Given the description of an element on the screen output the (x, y) to click on. 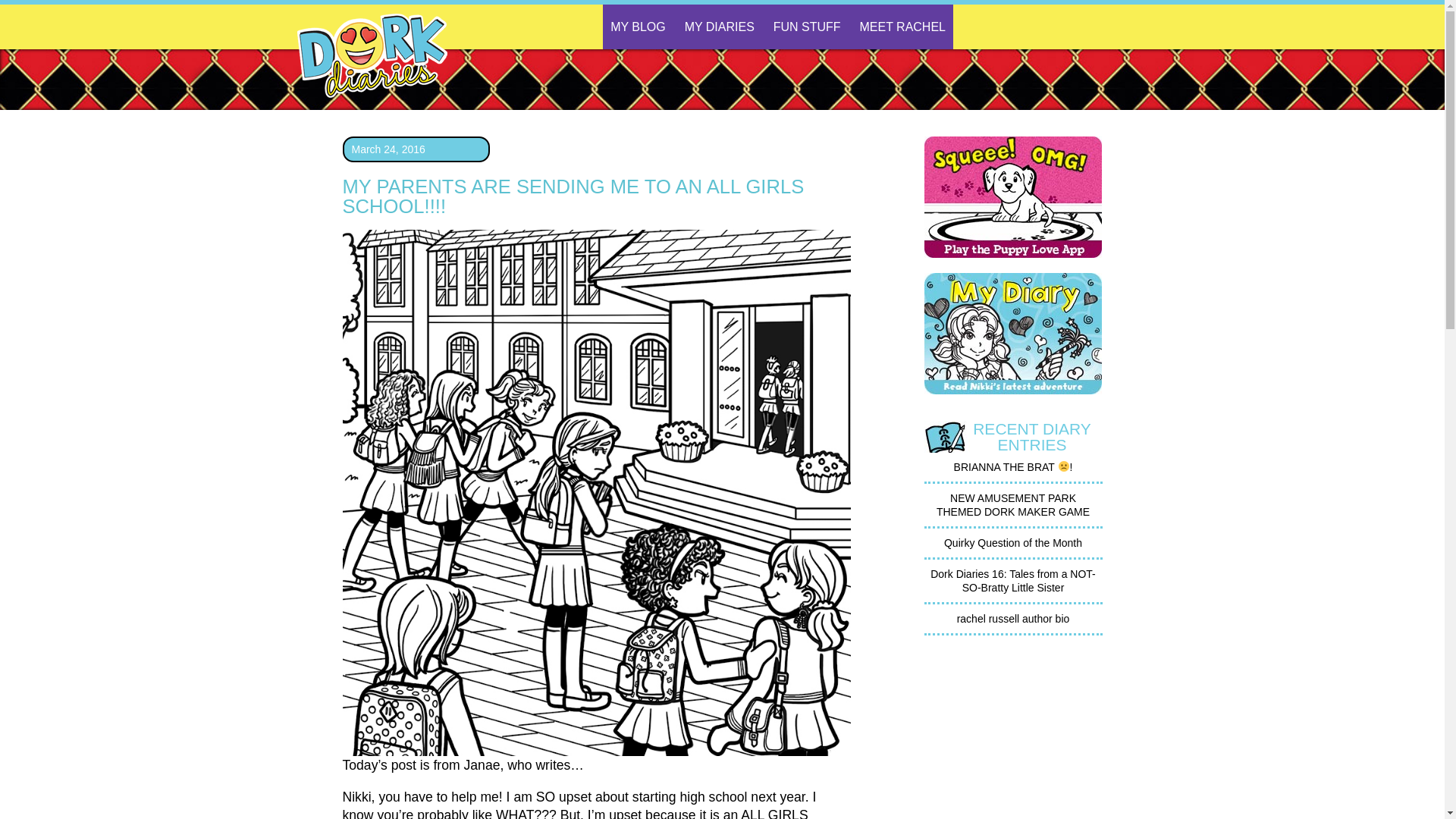
rachel russell author bio (1013, 618)
BRIANNA THE BRAT ! (1013, 467)
MY DIARIES (719, 26)
NEW AMUSEMENT PARK THEMED DORK MAKER GAME (1012, 504)
Dork Diaries 16: Tales from a NOT-SO-Bratty Little Sister (1013, 580)
MEET RACHEL (902, 26)
Quirky Question of the Month (1012, 542)
MY BLOG (637, 26)
FUN STUFF (806, 26)
